Given the description of an element on the screen output the (x, y) to click on. 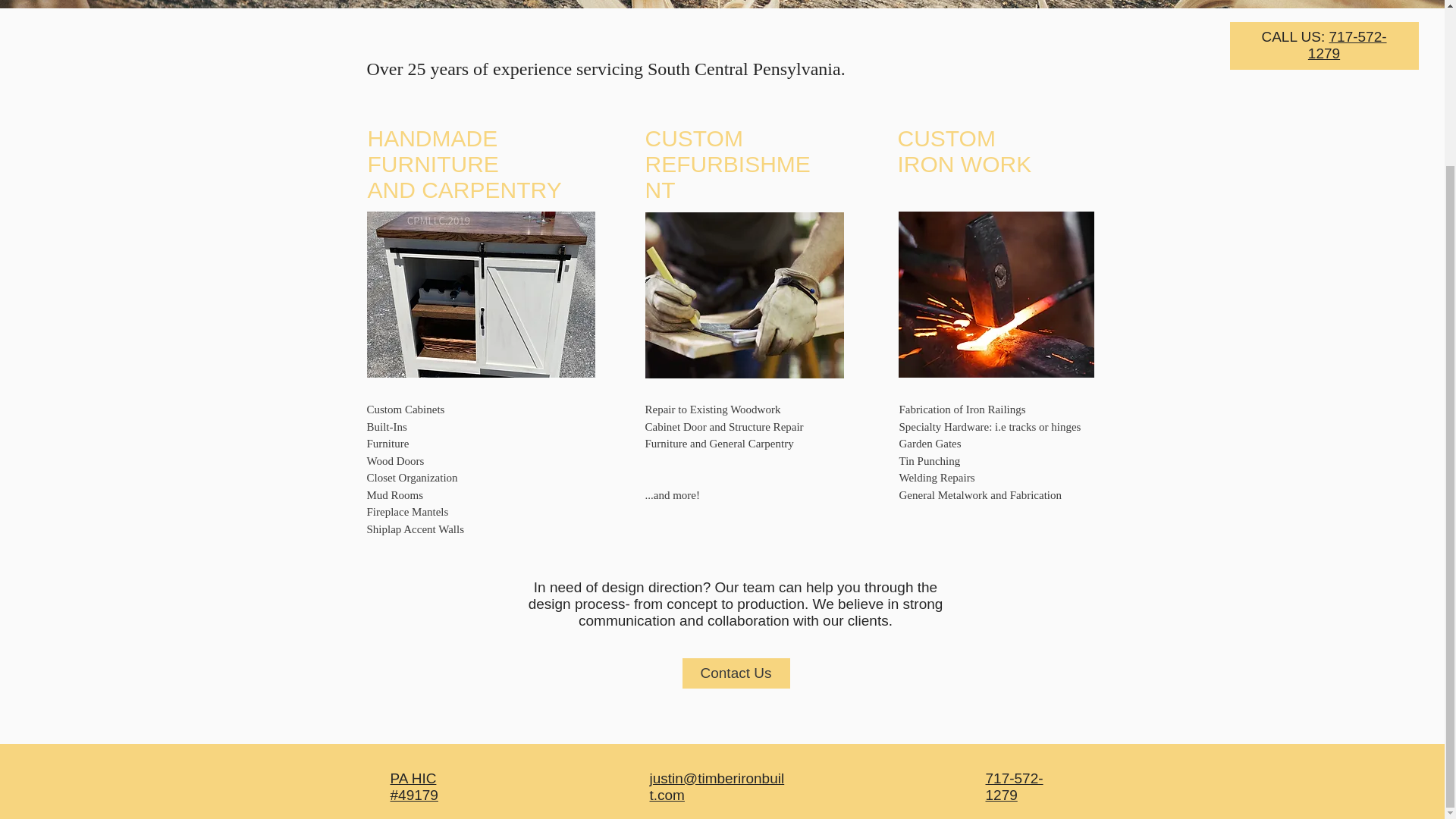
717-572-1279 (1014, 787)
Contact Us (736, 673)
